Given the description of an element on the screen output the (x, y) to click on. 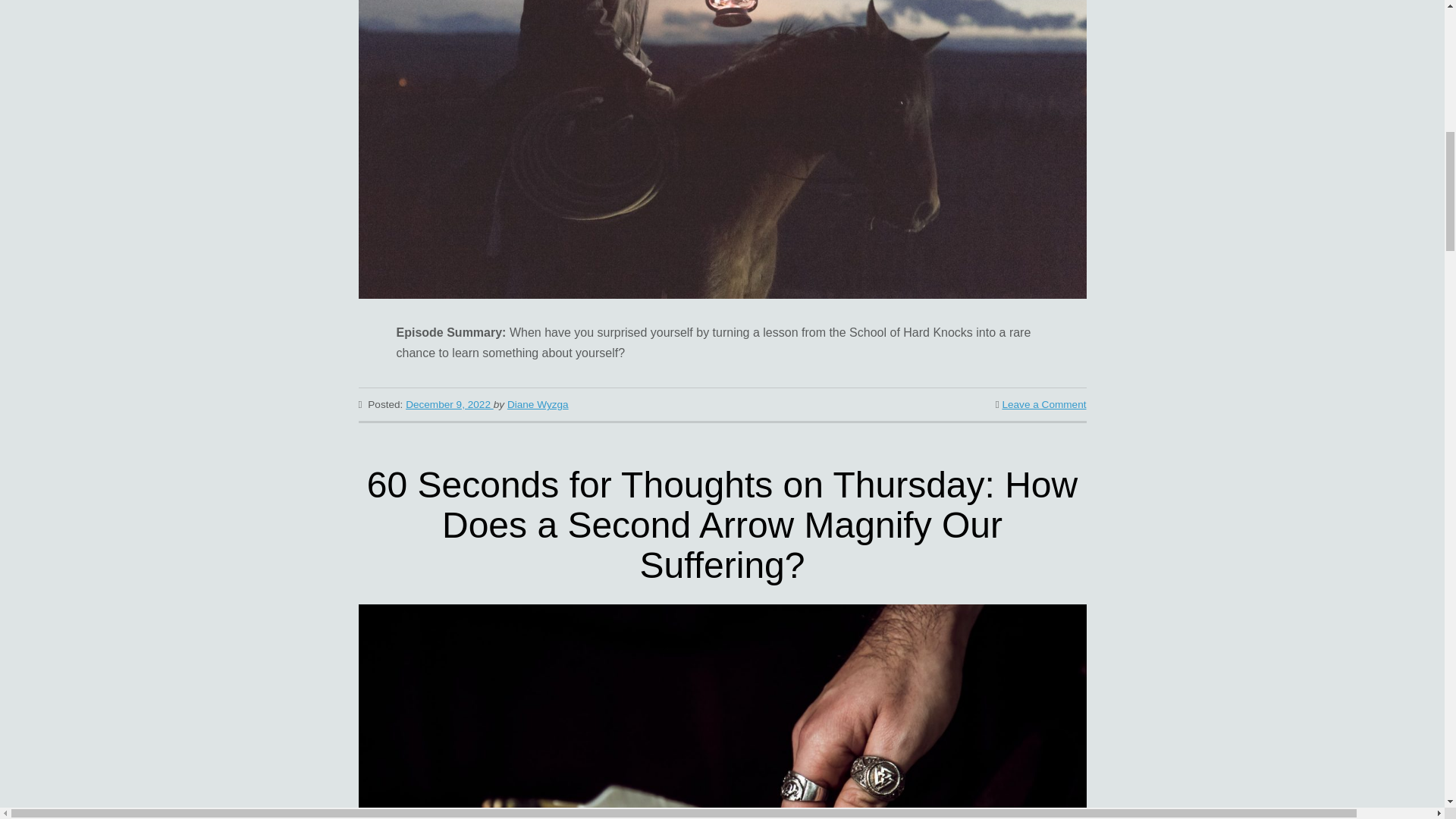
9:34 am (449, 404)
Posts by Diane Wyzga (537, 404)
Leave a Comment (1043, 404)
Diane Wyzga (537, 404)
December 9, 2022 (449, 404)
